Given the description of an element on the screen output the (x, y) to click on. 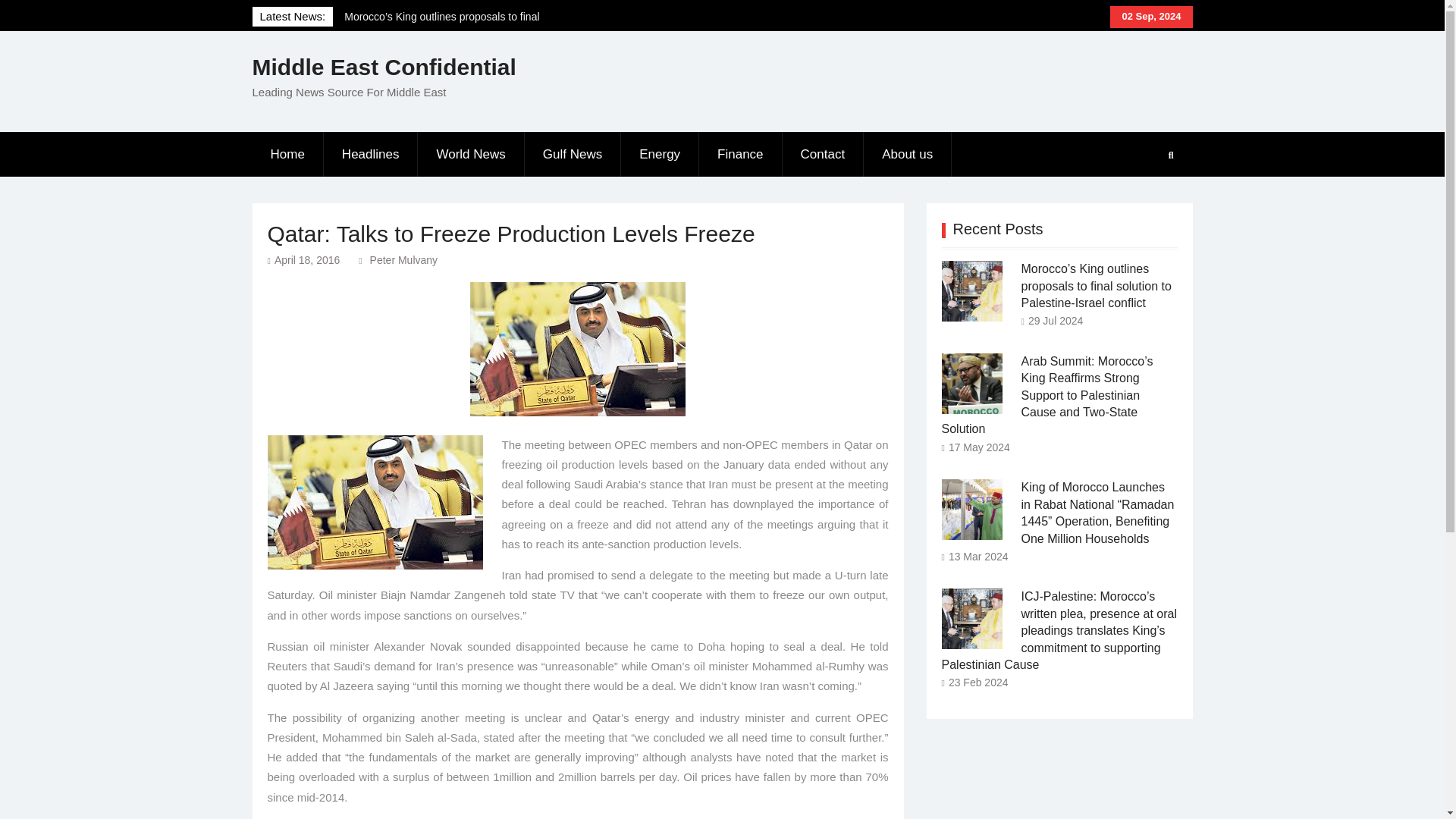
Contact (823, 154)
Peter Mulvany (403, 259)
Gulf News (572, 154)
World News (470, 154)
Home (287, 154)
April 18, 2016 (307, 259)
Finance (739, 154)
Middle East Confidential (383, 66)
About us (907, 154)
Headlines (371, 154)
